Given the description of an element on the screen output the (x, y) to click on. 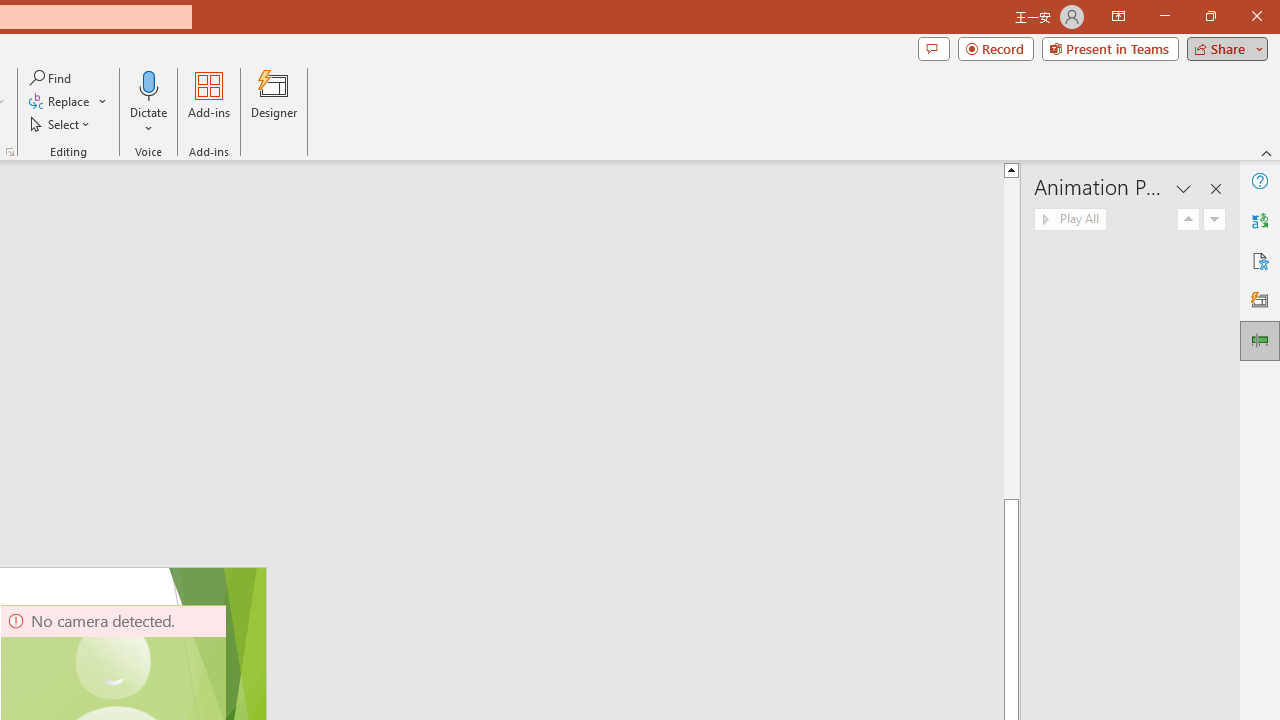
Play All (1070, 219)
Move Up (1188, 219)
Animation Pane (1260, 340)
Move Down (1214, 219)
